Given the description of an element on the screen output the (x, y) to click on. 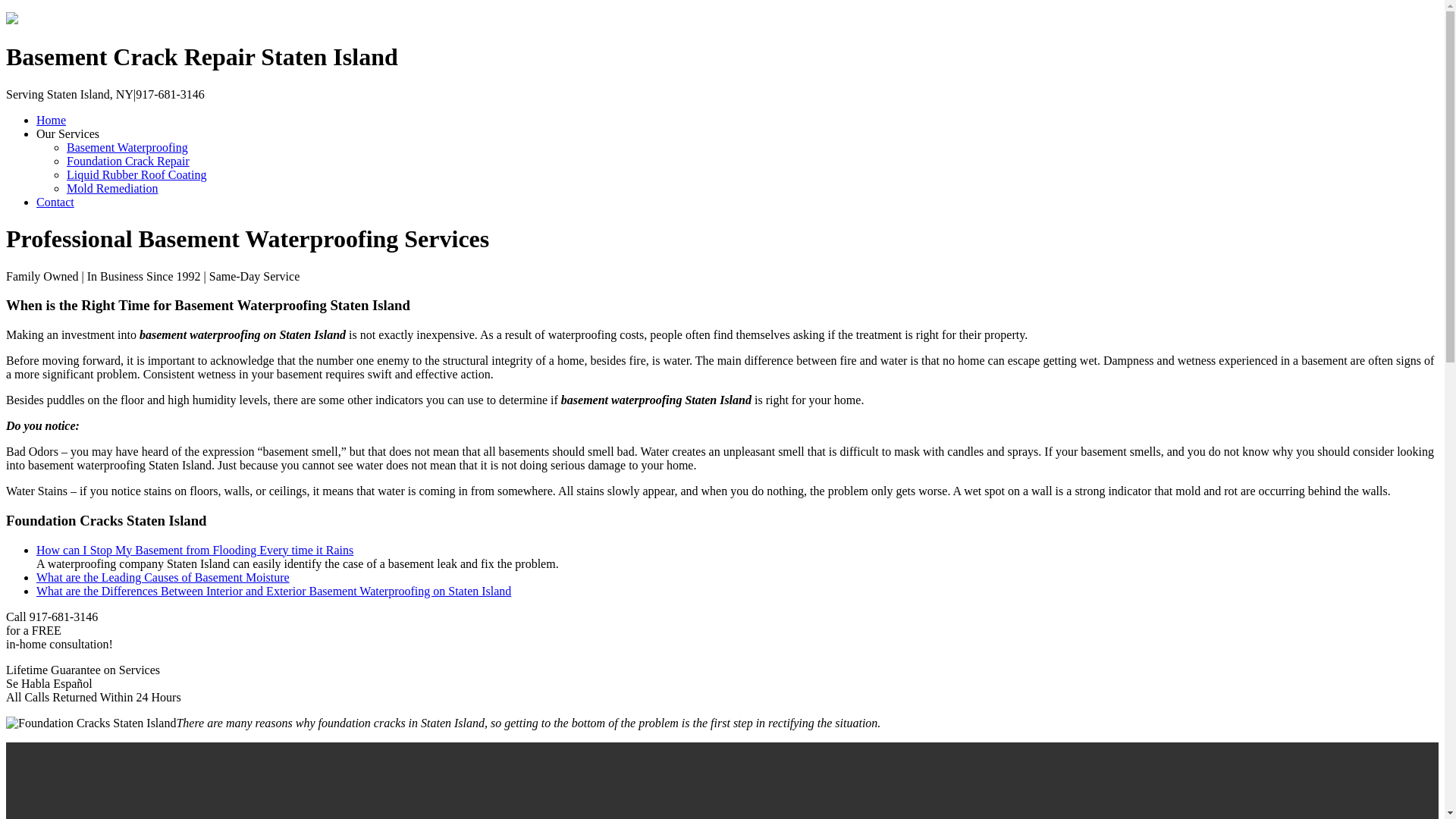
Our Services (67, 133)
Mold Remediation (111, 187)
Foundation Crack Repair (127, 160)
Basement Waterproofing (126, 146)
Contact (55, 201)
What are the Leading Causes of Basement Moisture (162, 576)
How can I Stop My Basement from Flooding Every time it Rains (194, 549)
Home (50, 119)
Liquid Rubber Roof Coating (136, 174)
